Given the description of an element on the screen output the (x, y) to click on. 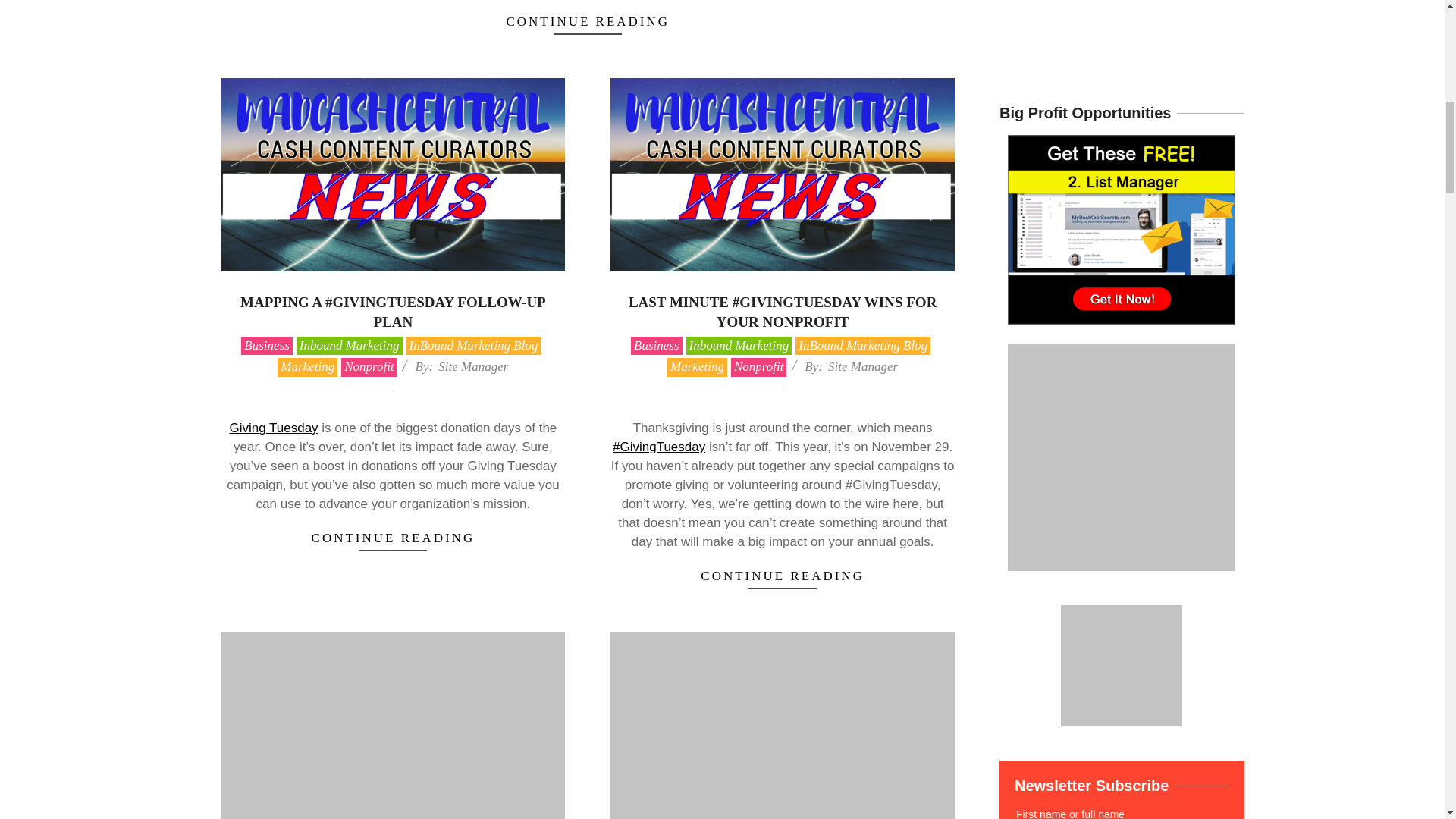
Posts by Site Manager (863, 366)
Posts by Site Manager (473, 366)
